Given the description of an element on the screen output the (x, y) to click on. 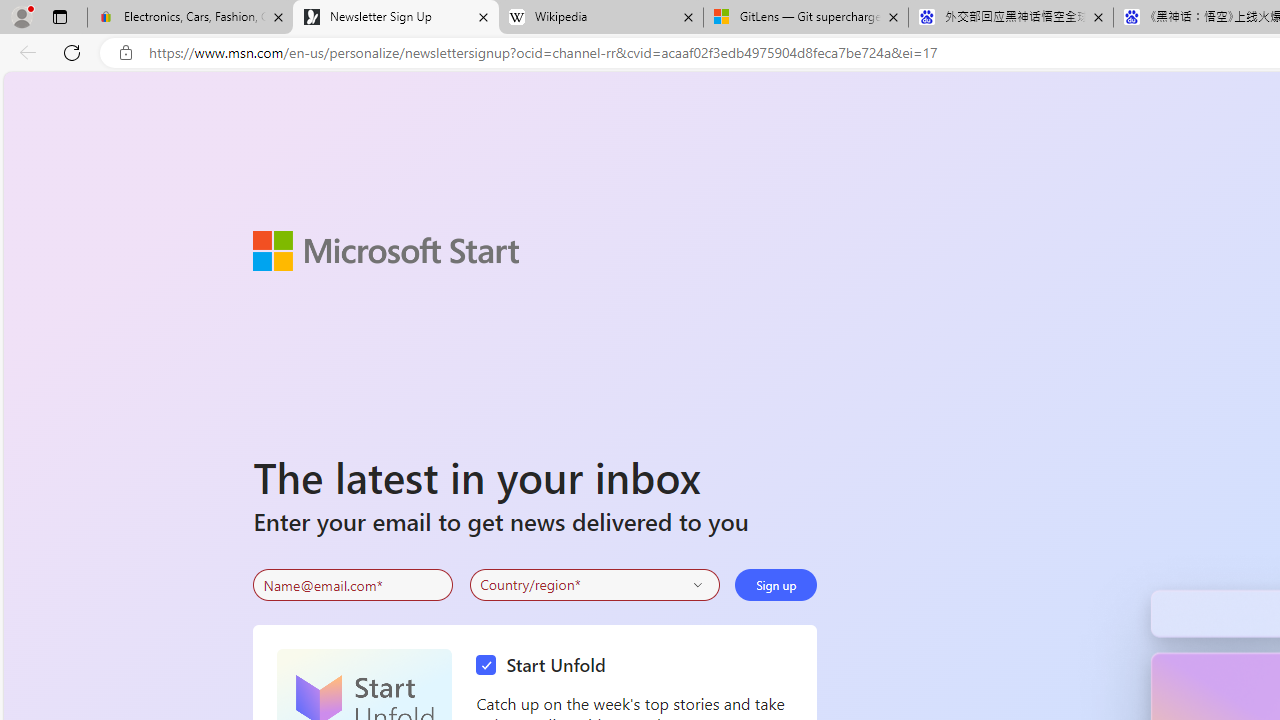
Select your country (594, 584)
Enter your email (353, 585)
Start Unfold (545, 665)
Electronics, Cars, Fashion, Collectibles & More | eBay (190, 17)
Wikipedia (600, 17)
Sign up (775, 584)
